Given the description of an element on the screen output the (x, y) to click on. 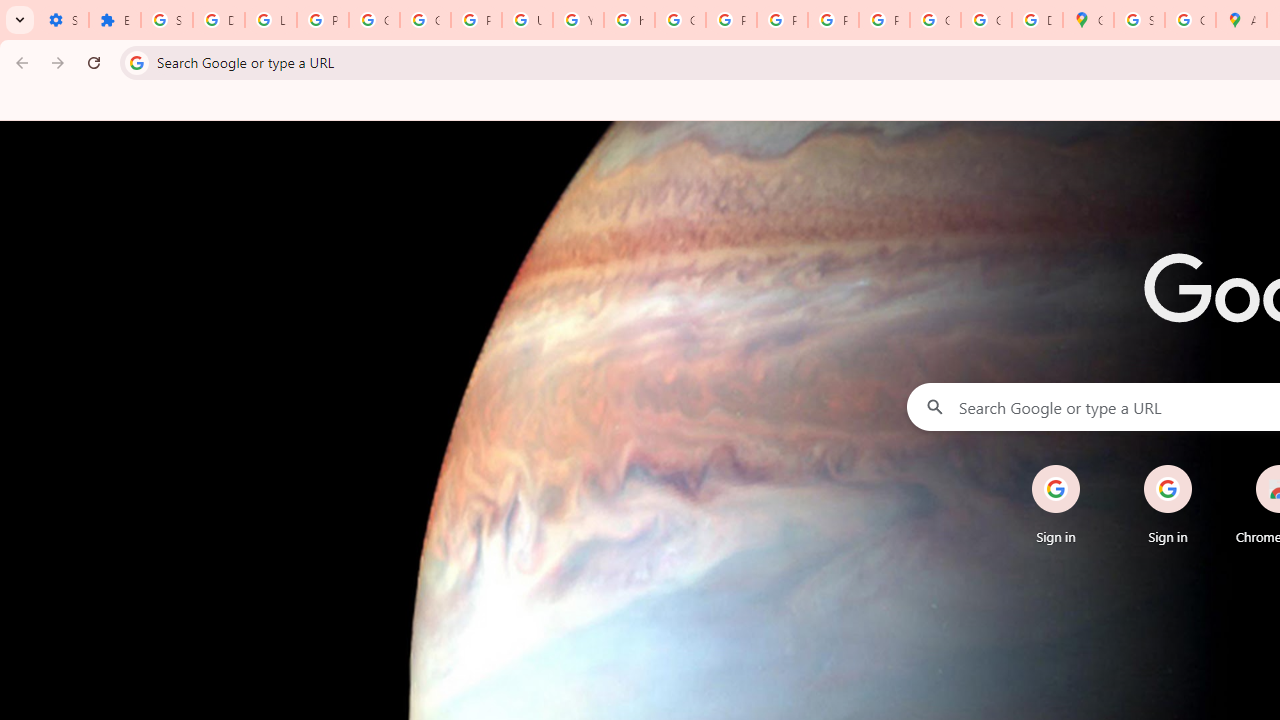
YouTube (578, 20)
